Given the description of an element on the screen output the (x, y) to click on. 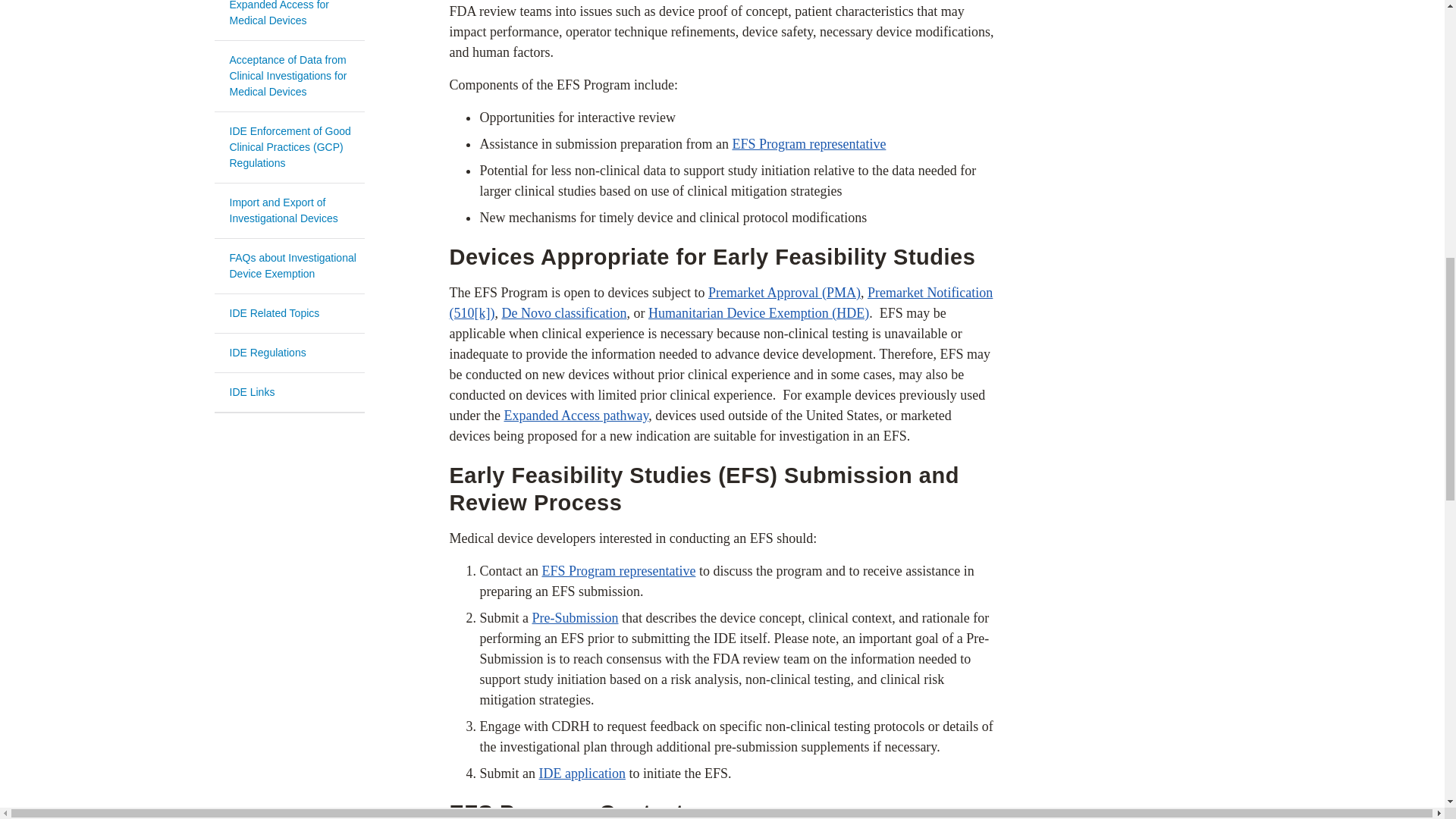
IDE Application (581, 773)
Expanded Access for Medical Devices (575, 415)
